Given the description of an element on the screen output the (x, y) to click on. 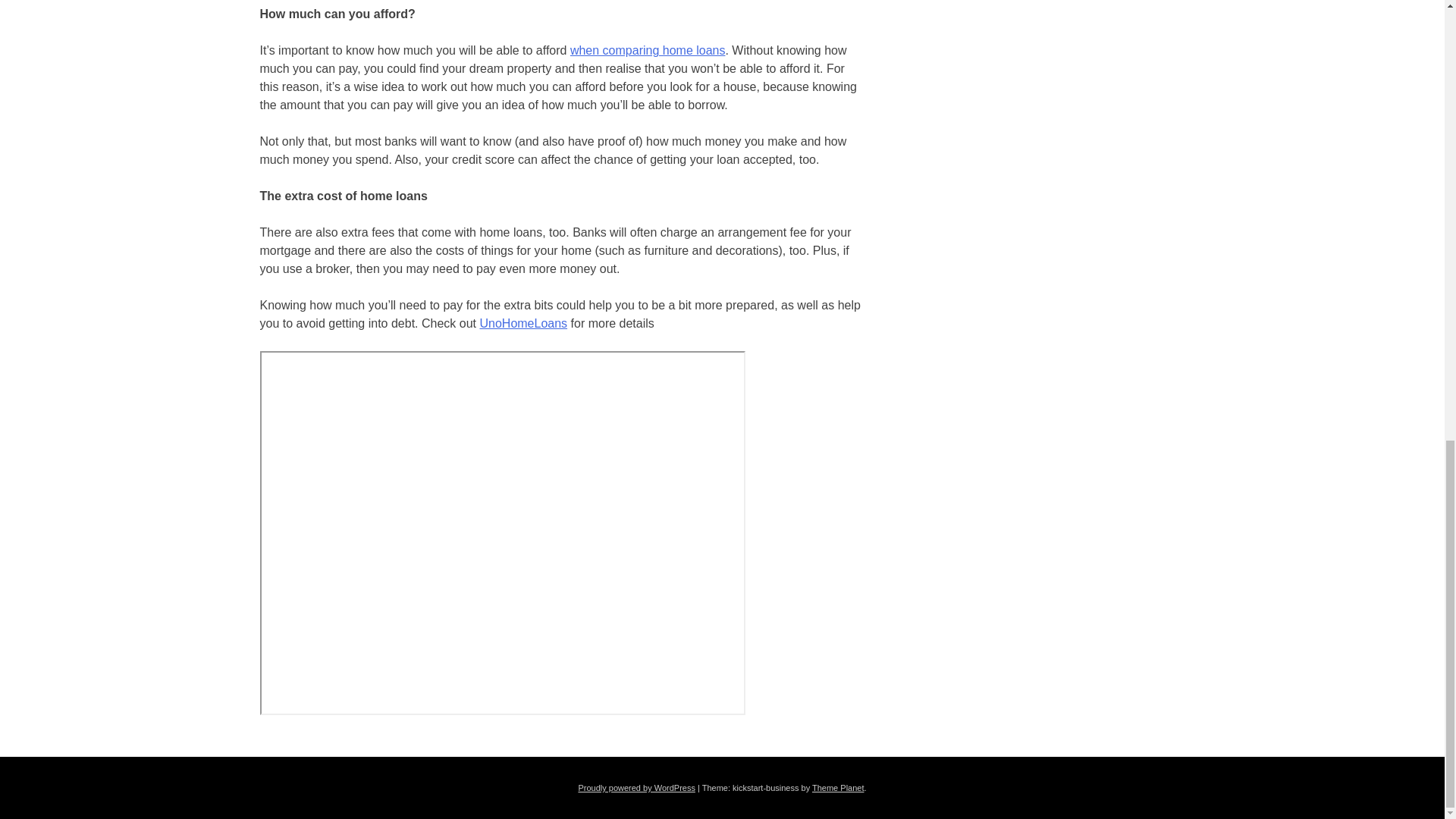
when comparing home loans (647, 50)
Theme Planet (837, 787)
Proudly powered by WordPress (636, 787)
UnoHomeLoans (523, 323)
